Given the description of an element on the screen output the (x, y) to click on. 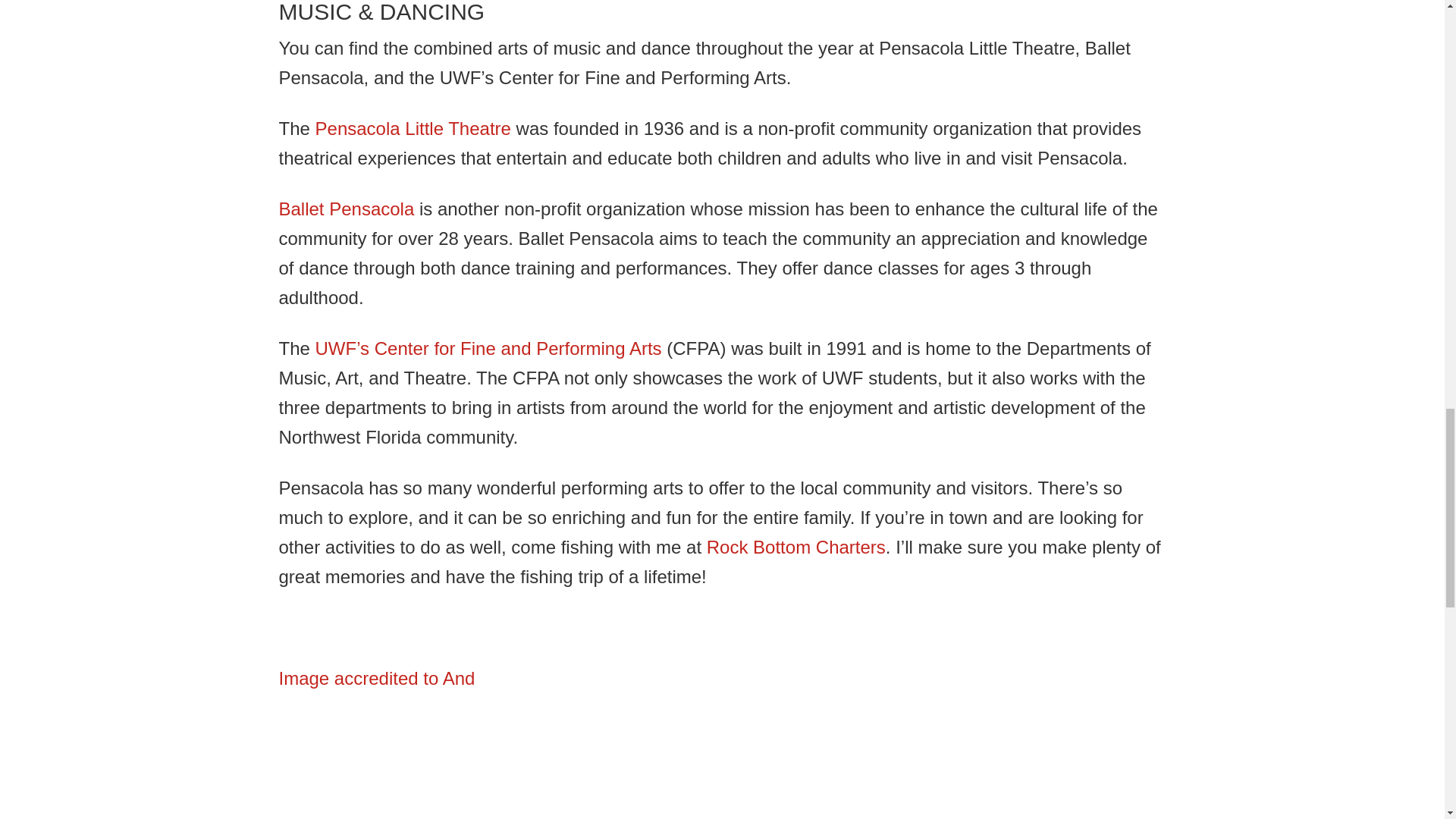
Rock Bottom Charters (795, 547)
Ballet Pensacola (346, 209)
Pensacola Little Theatre (413, 127)
Image accredited to  (360, 678)
And (459, 678)
